Given the description of an element on the screen output the (x, y) to click on. 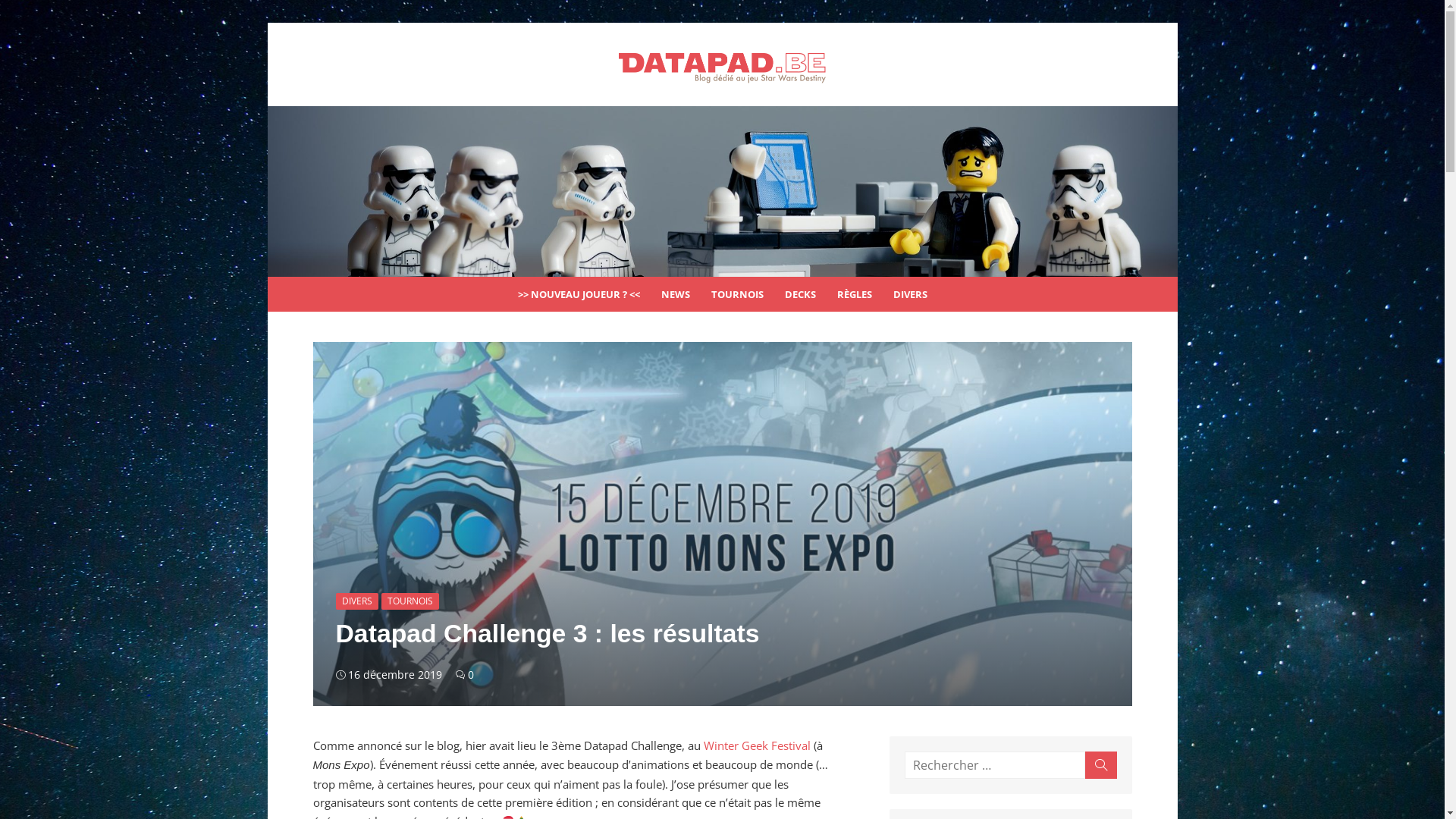
>> NOUVEAU JOUEUR ? << Element type: text (578, 293)
DECKS Element type: text (799, 293)
DIVERS Element type: text (356, 601)
DIVERS Element type: text (910, 293)
datapad.be Element type: hover (721, 191)
TOURNOIS Element type: text (737, 293)
TOURNOIS Element type: text (409, 601)
Search Element type: text (1100, 764)
Skip to content Element type: text (266, 21)
0 Element type: text (464, 674)
Winter Geek Festival Element type: text (756, 745)
NEWS Element type: text (675, 293)
